Given the description of an element on the screen output the (x, y) to click on. 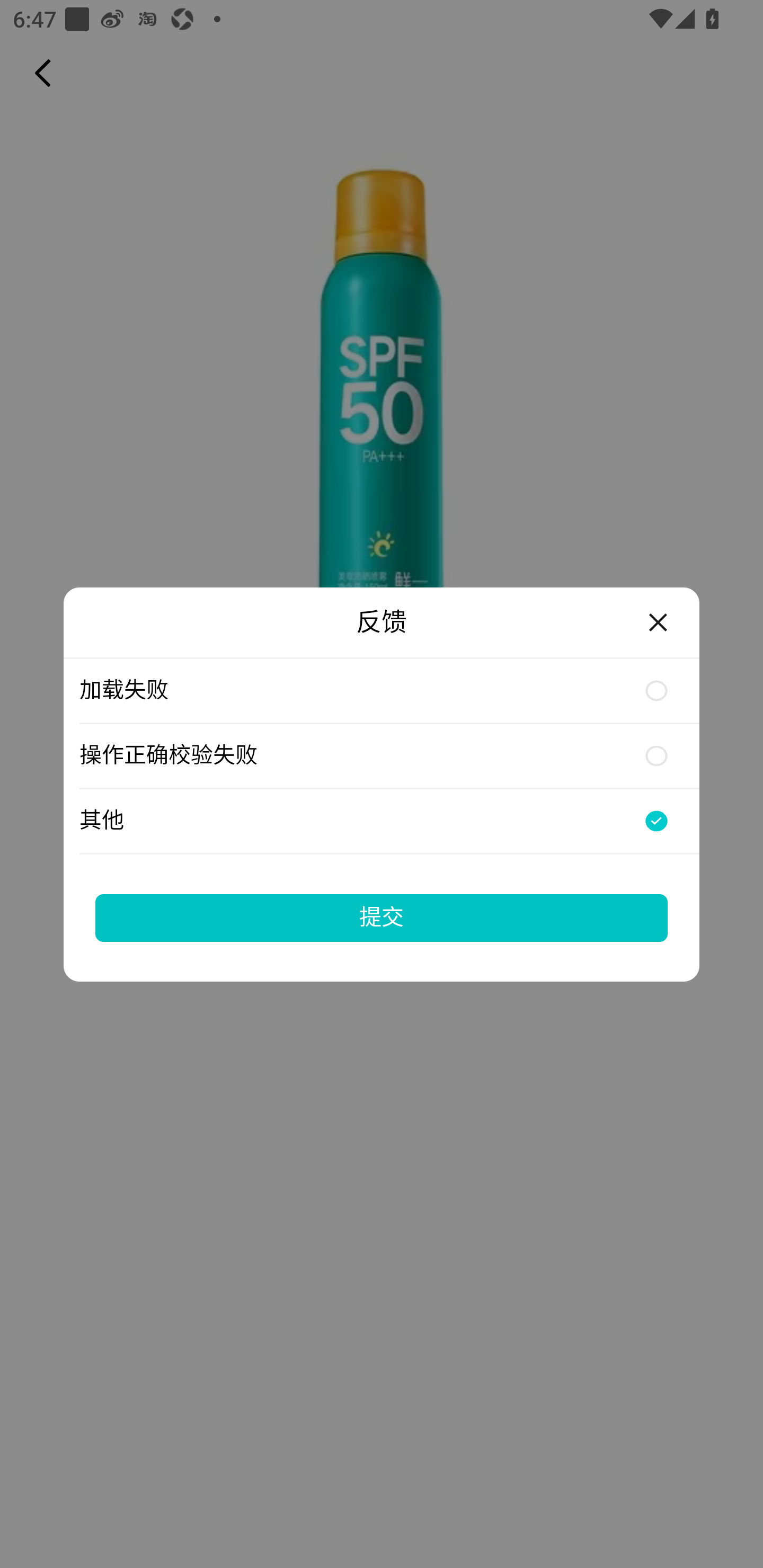
提交 (381, 917)
